Given the description of an element on the screen output the (x, y) to click on. 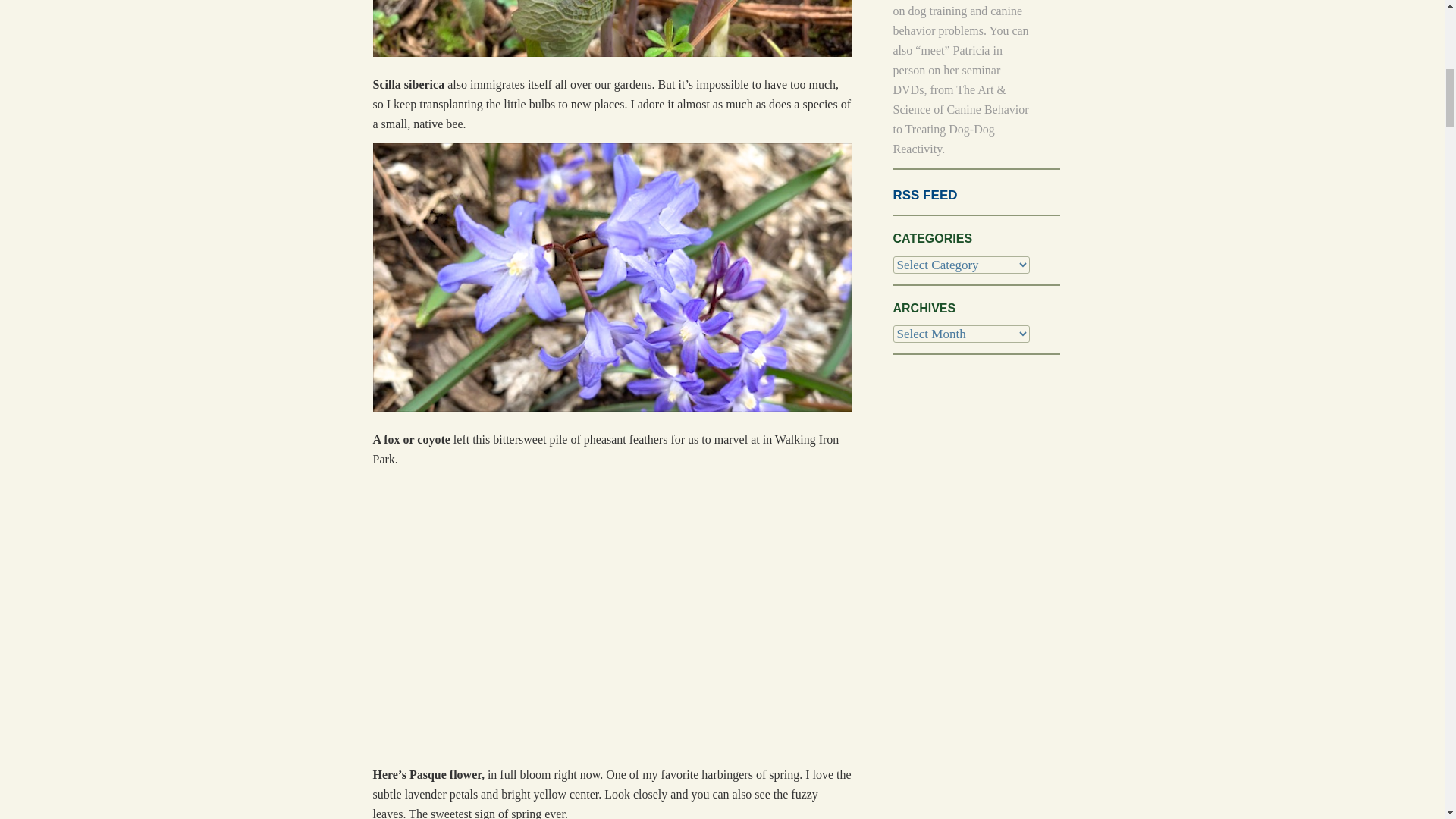
Post RSS FEED (925, 195)
